Given the description of an element on the screen output the (x, y) to click on. 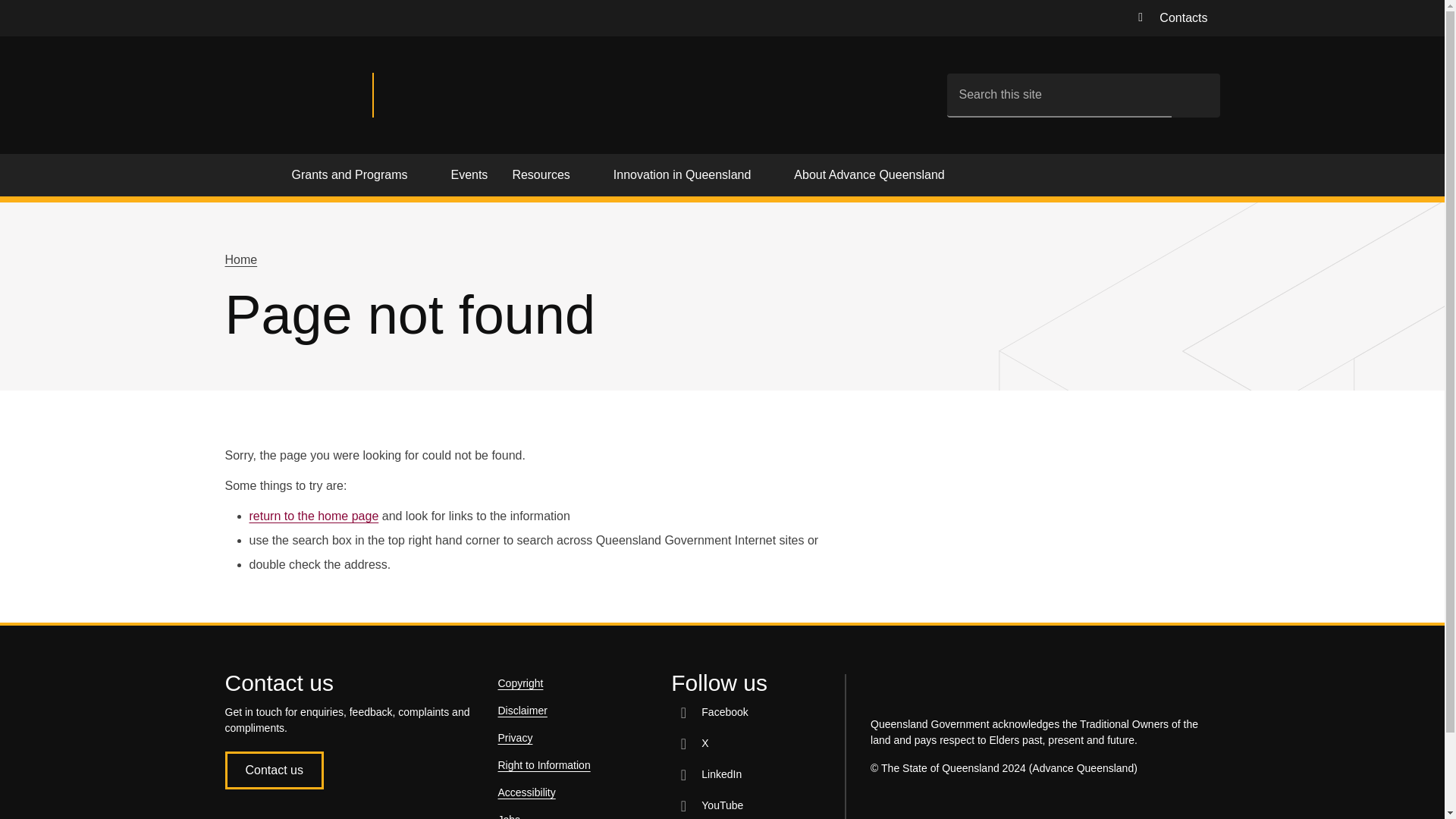
Contacts (1172, 18)
Search this site (1058, 94)
Queensland Government (298, 94)
Search (1195, 94)
Open submenu (420, 174)
Home (251, 177)
Search (1195, 94)
Open submenu (583, 174)
Advance Queensland (479, 95)
Resources (549, 177)
